Given the description of an element on the screen output the (x, y) to click on. 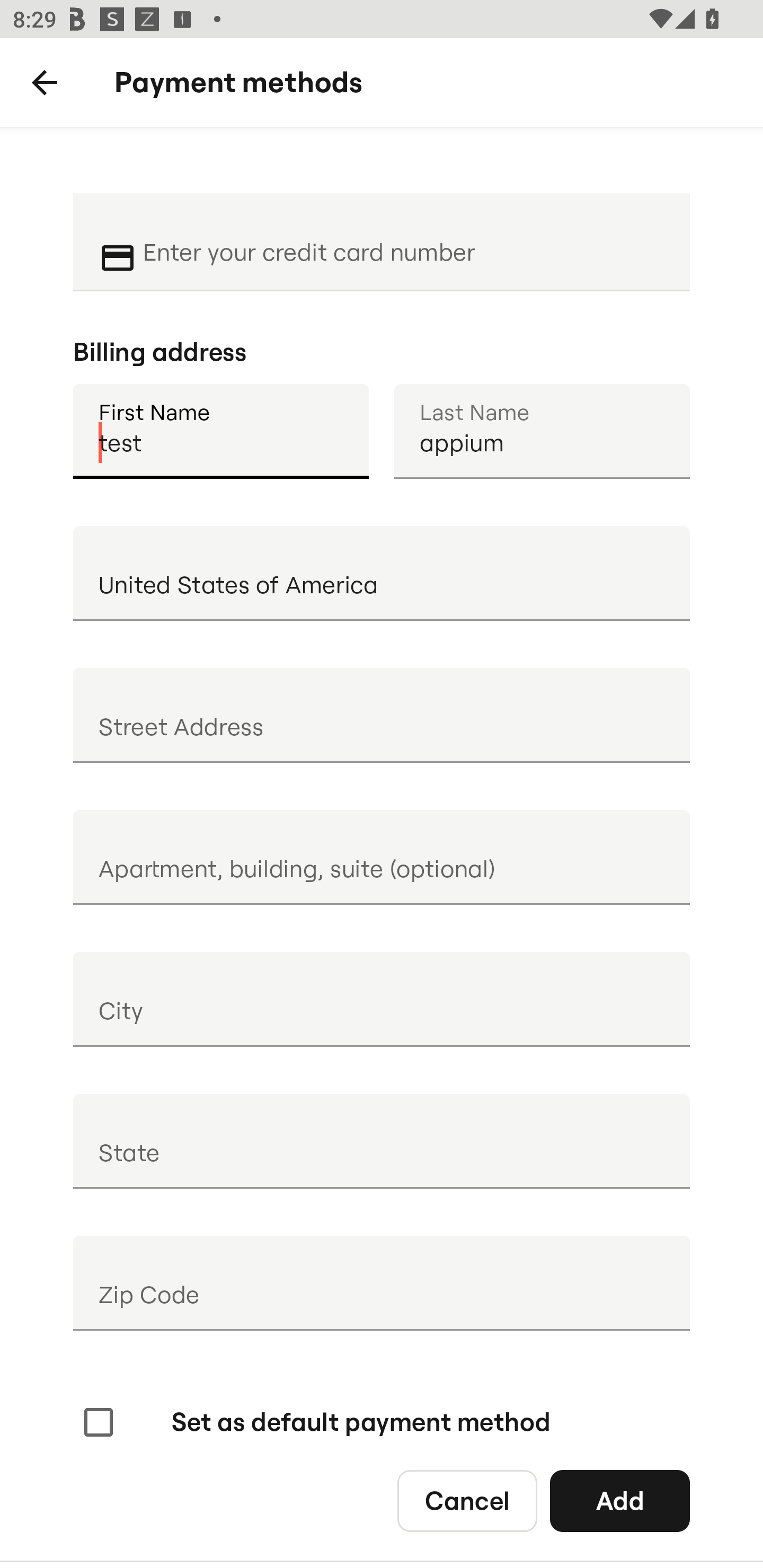
Back (44, 82)
Enter your credit card number (403, 240)
test (220, 431)
appium (541, 431)
United States of America (381, 572)
Street Address (381, 714)
Apartment, building, suite (optional) (381, 857)
City (381, 999)
State (381, 1141)
Zip Code (381, 1283)
Set as default payment method (314, 1421)
Cancel (467, 1500)
Add (619, 1500)
